Given the description of an element on the screen output the (x, y) to click on. 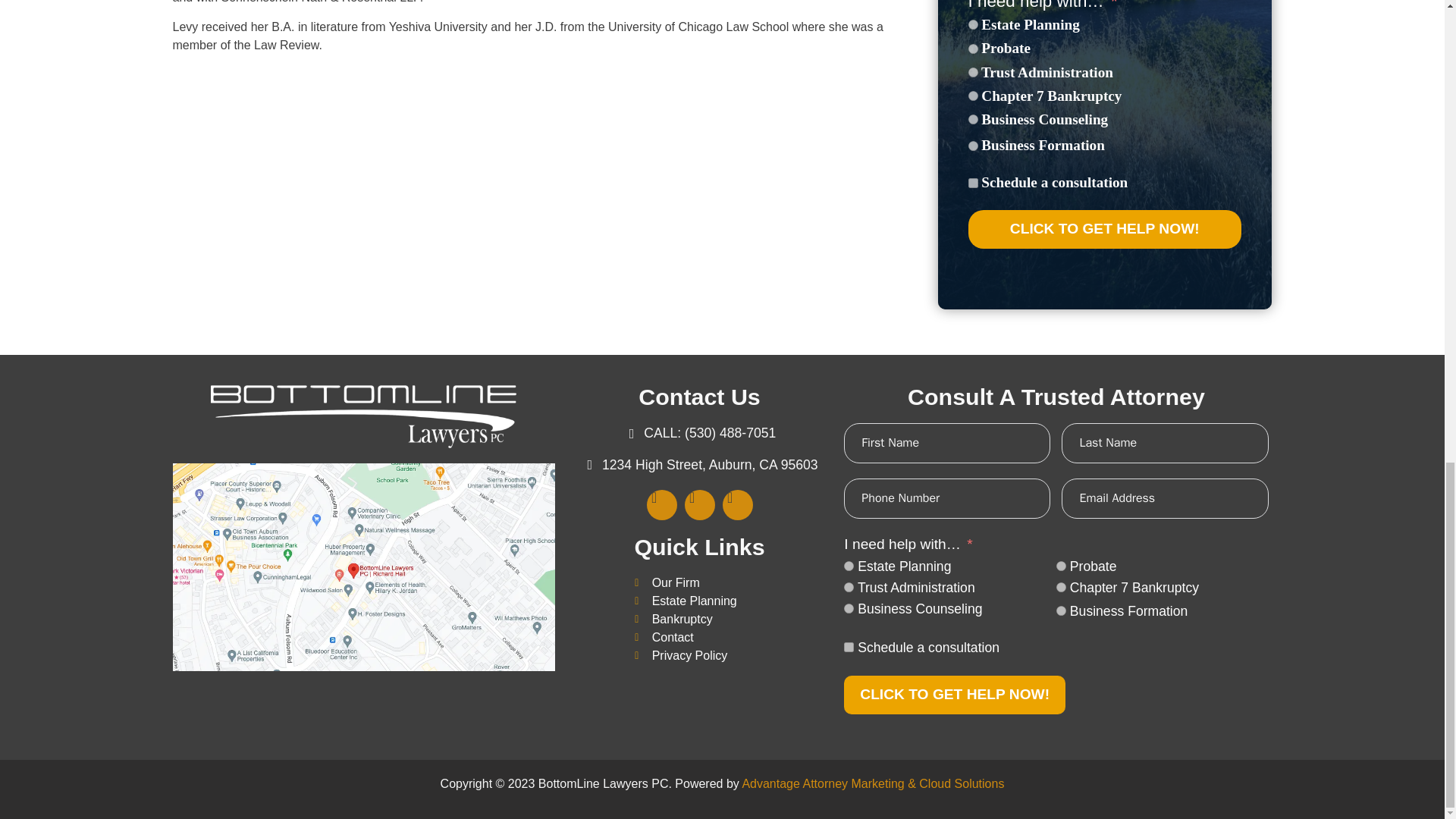
Chapter 7 Bankruptcy (1061, 587)
Estate Planning (972, 24)
Probate (972, 49)
Estate Planning (848, 565)
Business Counseling (972, 119)
Trust Administration (848, 587)
Business Formation (972, 145)
Chapter 7 Bankruptcy (972, 95)
Schedule a consultation (972, 182)
Probate (1061, 565)
